Given the description of an element on the screen output the (x, y) to click on. 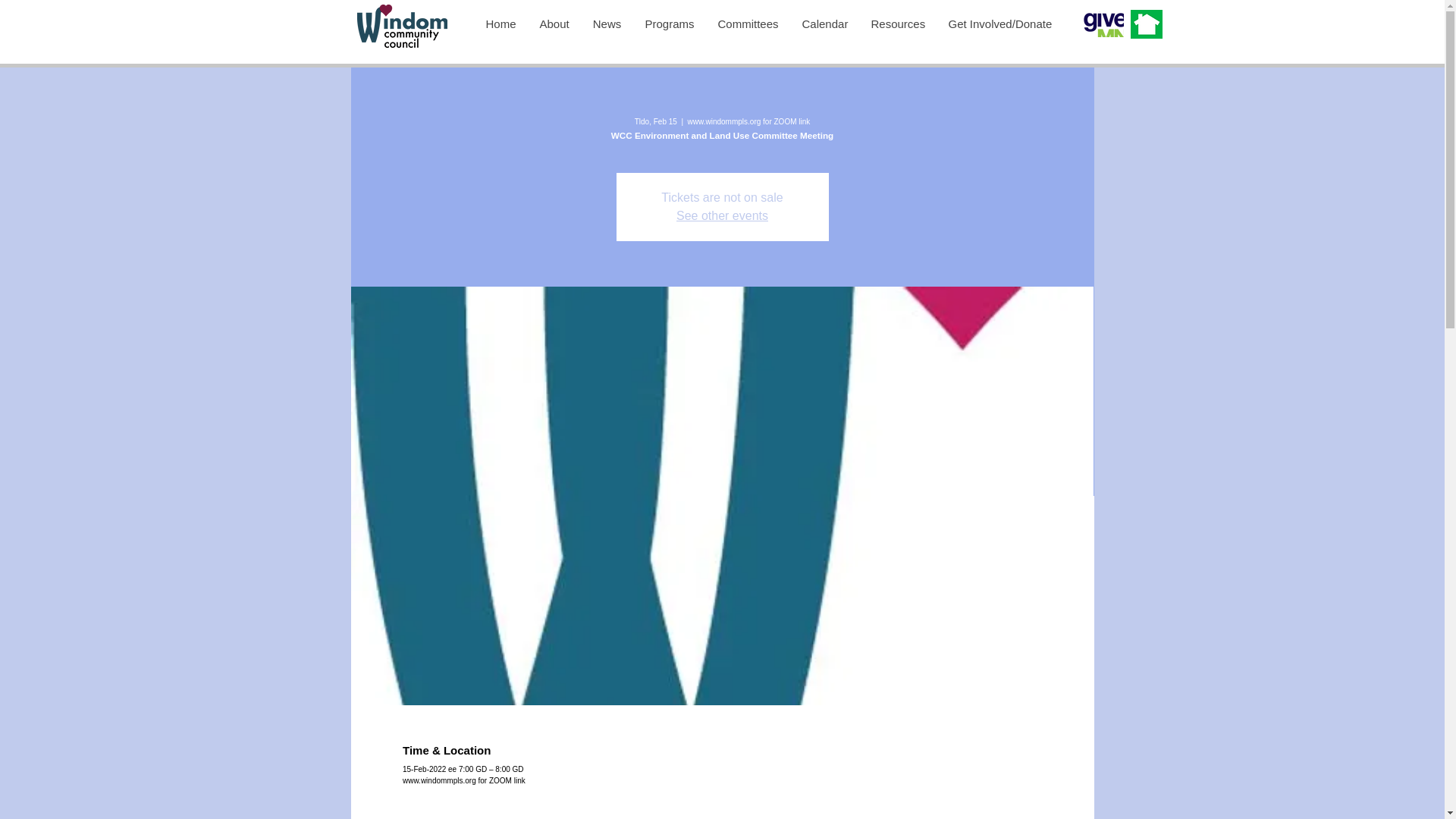
News (606, 23)
Calendar (824, 23)
About (553, 23)
Committees (746, 23)
Resources (897, 23)
Programs (667, 23)
Home (500, 23)
